Given the description of an element on the screen output the (x, y) to click on. 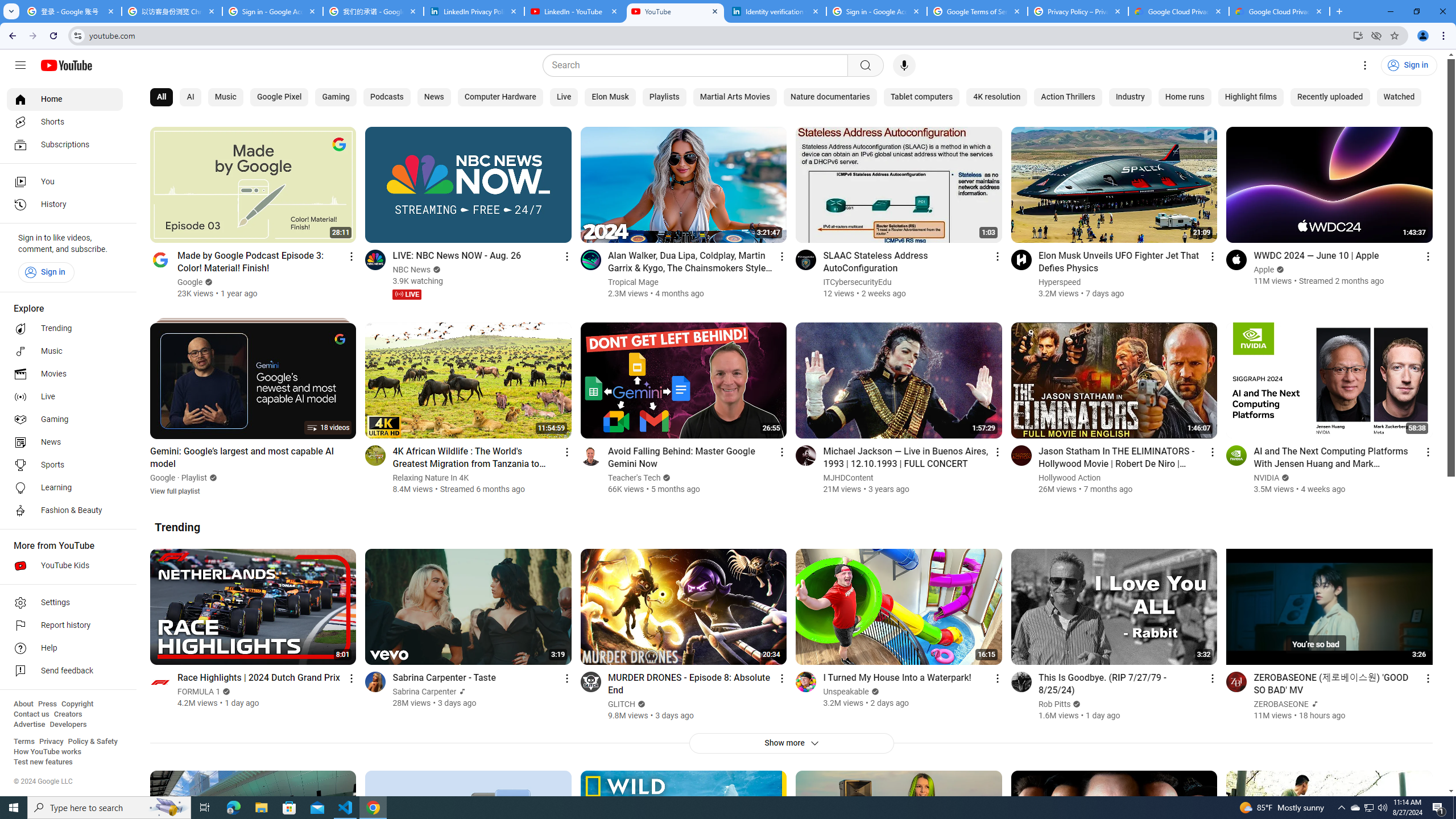
Nature documentaries (829, 97)
Google Cloud Privacy Notice (1279, 11)
Sabrina Carpenter (425, 691)
Rob Pitts (1054, 704)
Show more (790, 742)
Watched (1398, 97)
Apple (1264, 269)
Home runs (1184, 97)
